Given the description of an element on the screen output the (x, y) to click on. 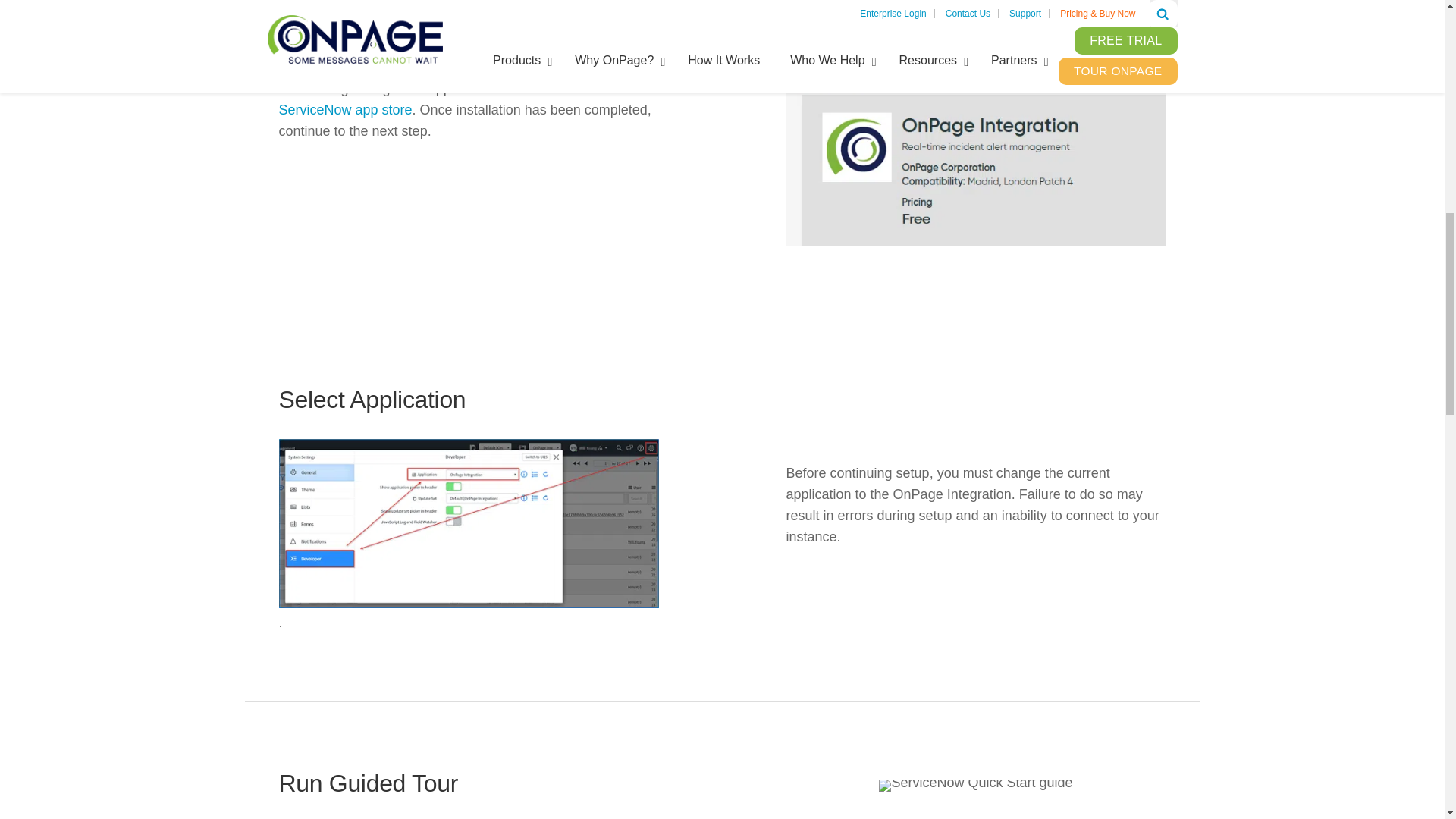
ServiceNow Quick Start guide (469, 523)
ServiceNow Quick Start guide (976, 784)
